Given the description of an element on the screen output the (x, y) to click on. 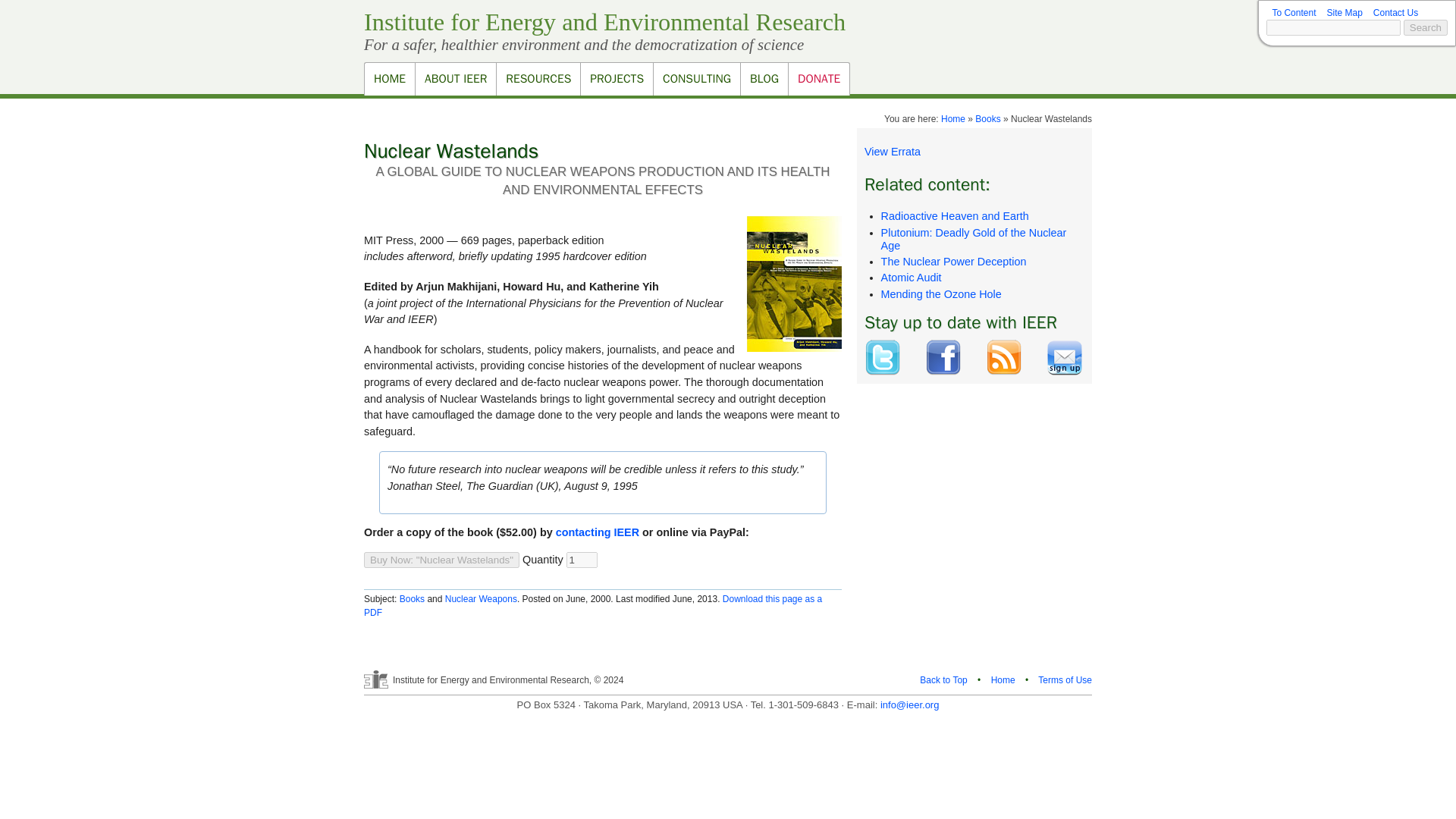
RESOURCES (537, 78)
Download this page as a PDF (593, 605)
Radioactive Heaven and Earth (954, 215)
Search (1425, 27)
Permanent link to Mending the Ozone Hole (940, 294)
PROJECTS (615, 78)
DONATE (818, 78)
Nuclear Weapons (480, 598)
BLOG (763, 78)
1 (581, 560)
Permanent link to Atomic Audit (911, 277)
CONSULTING (695, 78)
Site Map (1343, 12)
Permanent link to Radioactive Heaven and Earth (954, 215)
Permanent link to Plutonium: Deadly Gold of the Nuclear Age (973, 238)
